Given the description of an element on the screen output the (x, y) to click on. 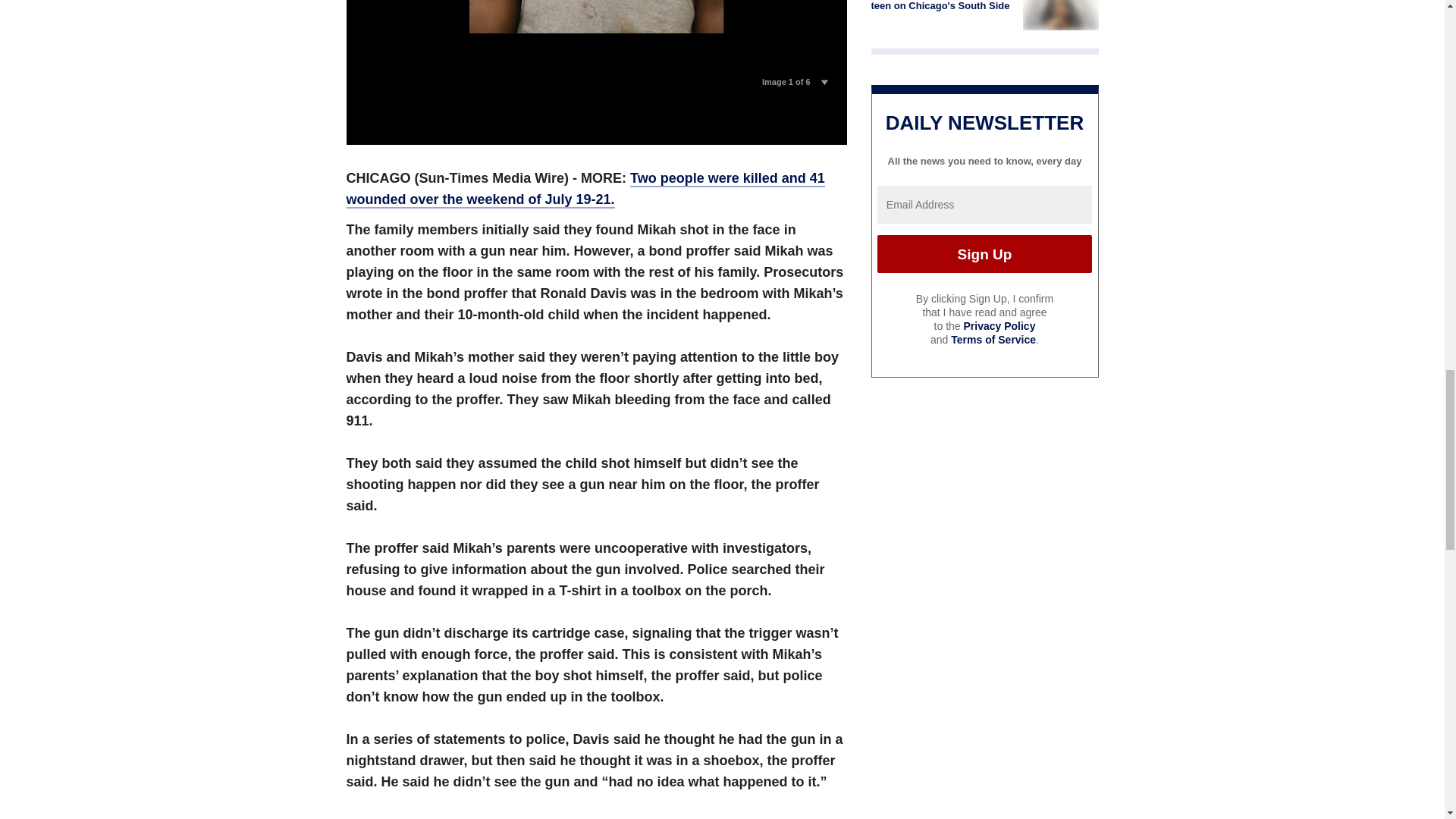
Sign Up (984, 253)
